Given the description of an element on the screen output the (x, y) to click on. 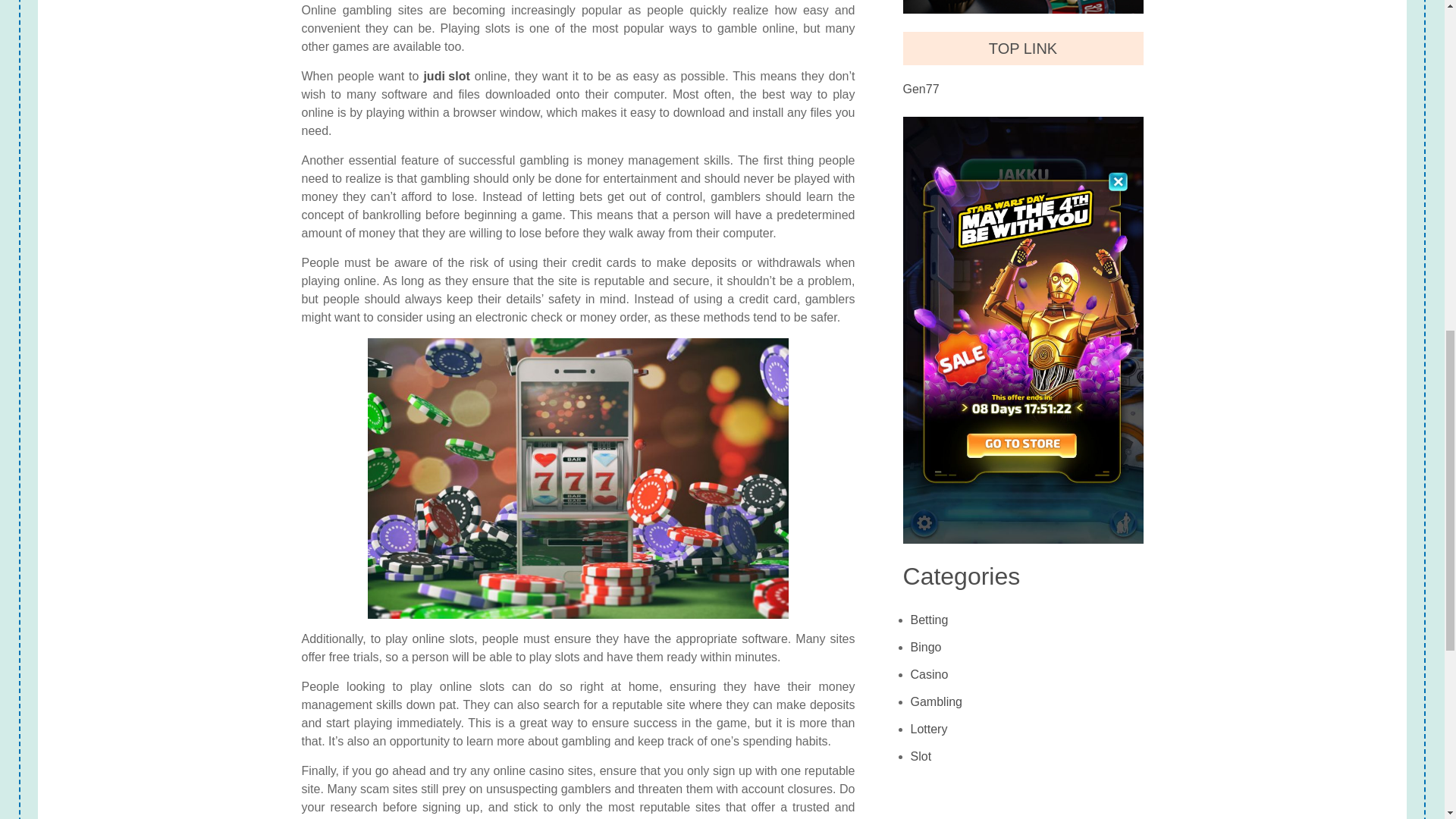
Slot (921, 756)
Bingo (926, 646)
Gambling (936, 701)
judi slot (445, 76)
Betting (930, 619)
Lottery (929, 728)
Casino (930, 674)
Gen77 (920, 89)
